Given the description of an element on the screen output the (x, y) to click on. 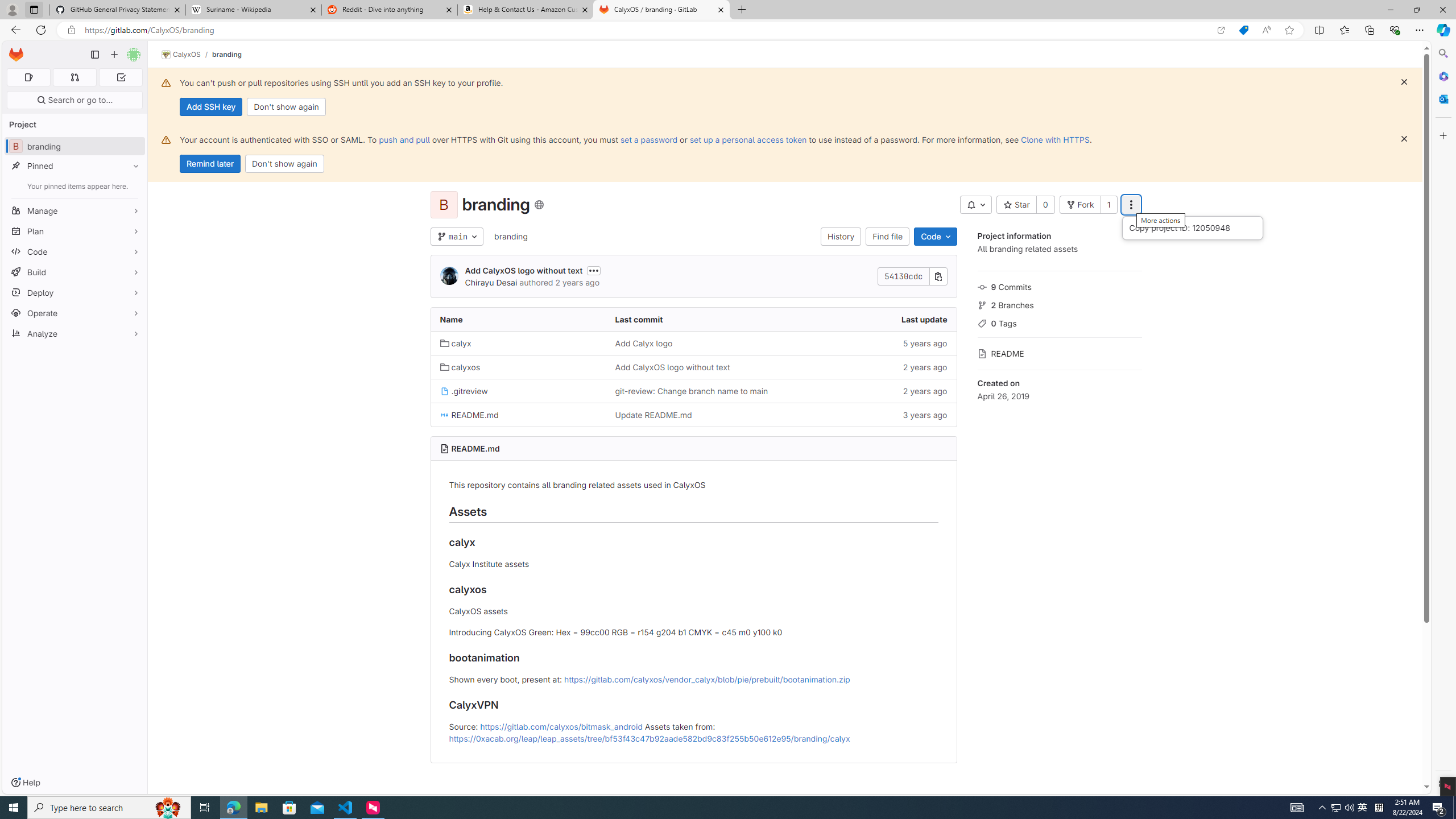
Open in app (1220, 29)
AutomationID: __BVID__301__BV_toggle_ (975, 204)
Class: s16 position-relative file-icon (444, 414)
To-Do list 0 (120, 76)
Copy commit SHA (937, 275)
Analyze (74, 333)
README.md (475, 447)
3 years ago (868, 414)
Class: s16 icon (538, 204)
README (1058, 352)
calyxos (517, 366)
README.md (517, 414)
